Given the description of an element on the screen output the (x, y) to click on. 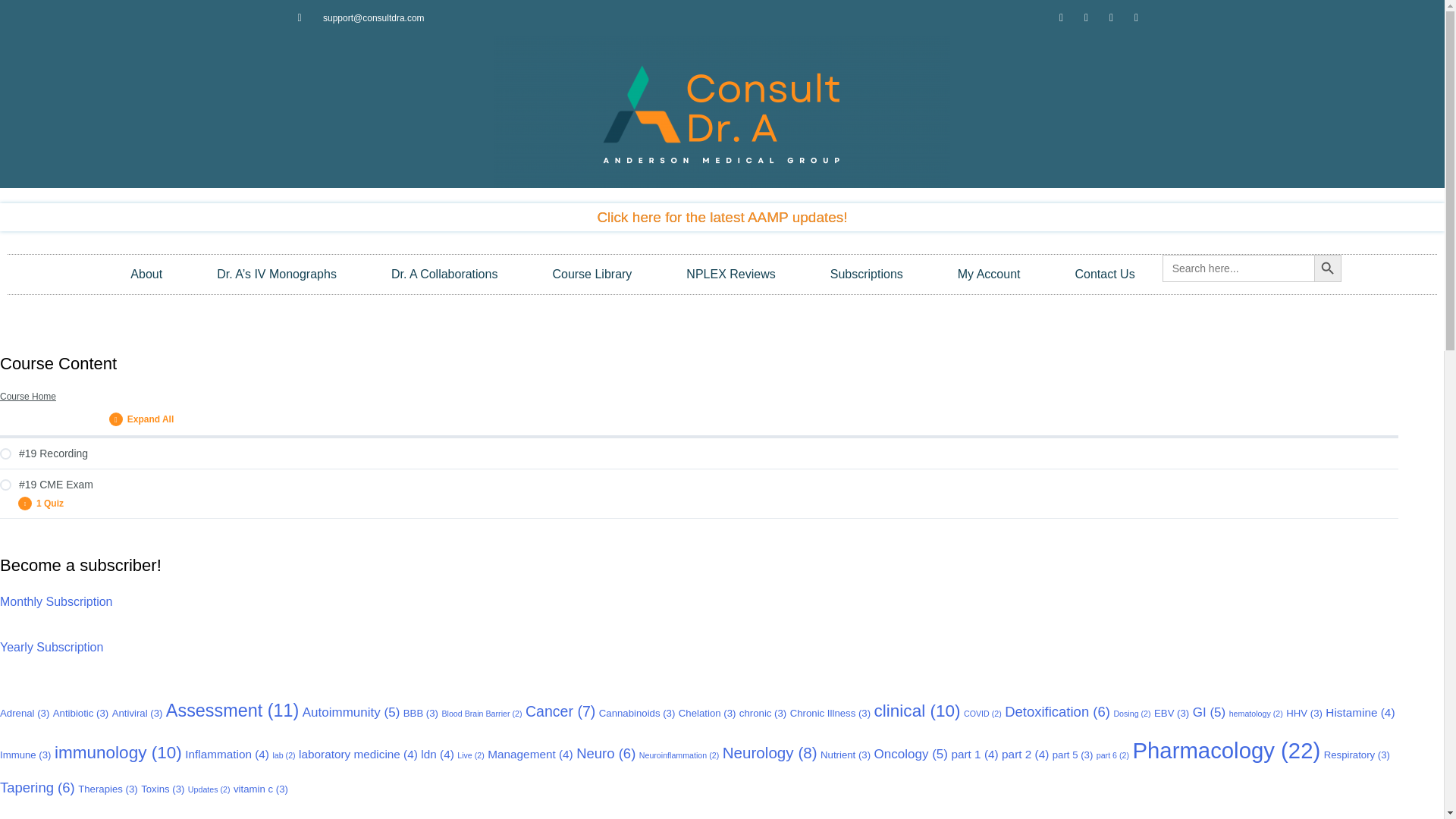
Instagram (1111, 17)
NPLEX Reviews (730, 274)
Facebook-f (1061, 17)
Dr. A Collaborations (444, 274)
Search Button (1327, 267)
Click here for the latest AAMP updates! (721, 217)
Subscriptions (866, 274)
About (146, 274)
Twitter (1085, 17)
Youtube (1136, 17)
